Given the description of an element on the screen output the (x, y) to click on. 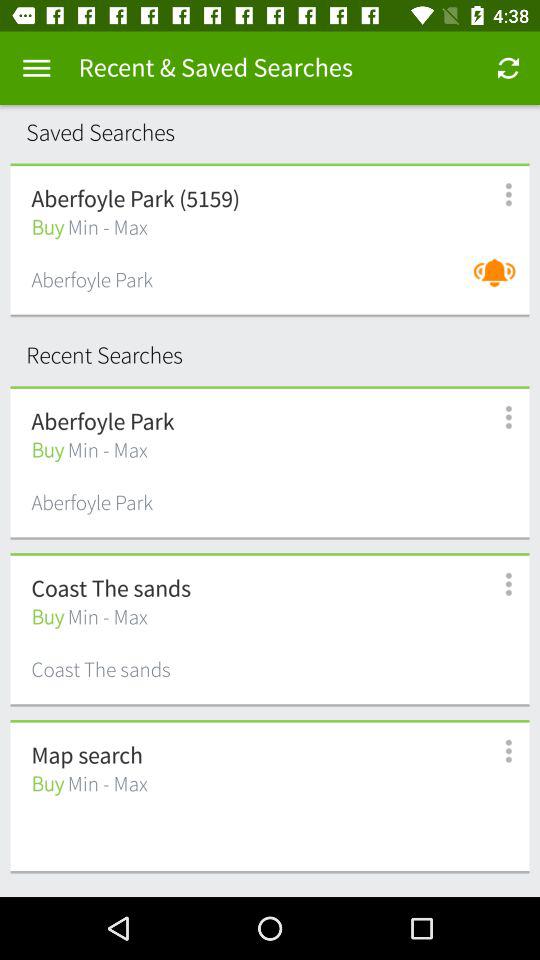
launch item to the right of aberfoyle park icon (499, 282)
